Given the description of an element on the screen output the (x, y) to click on. 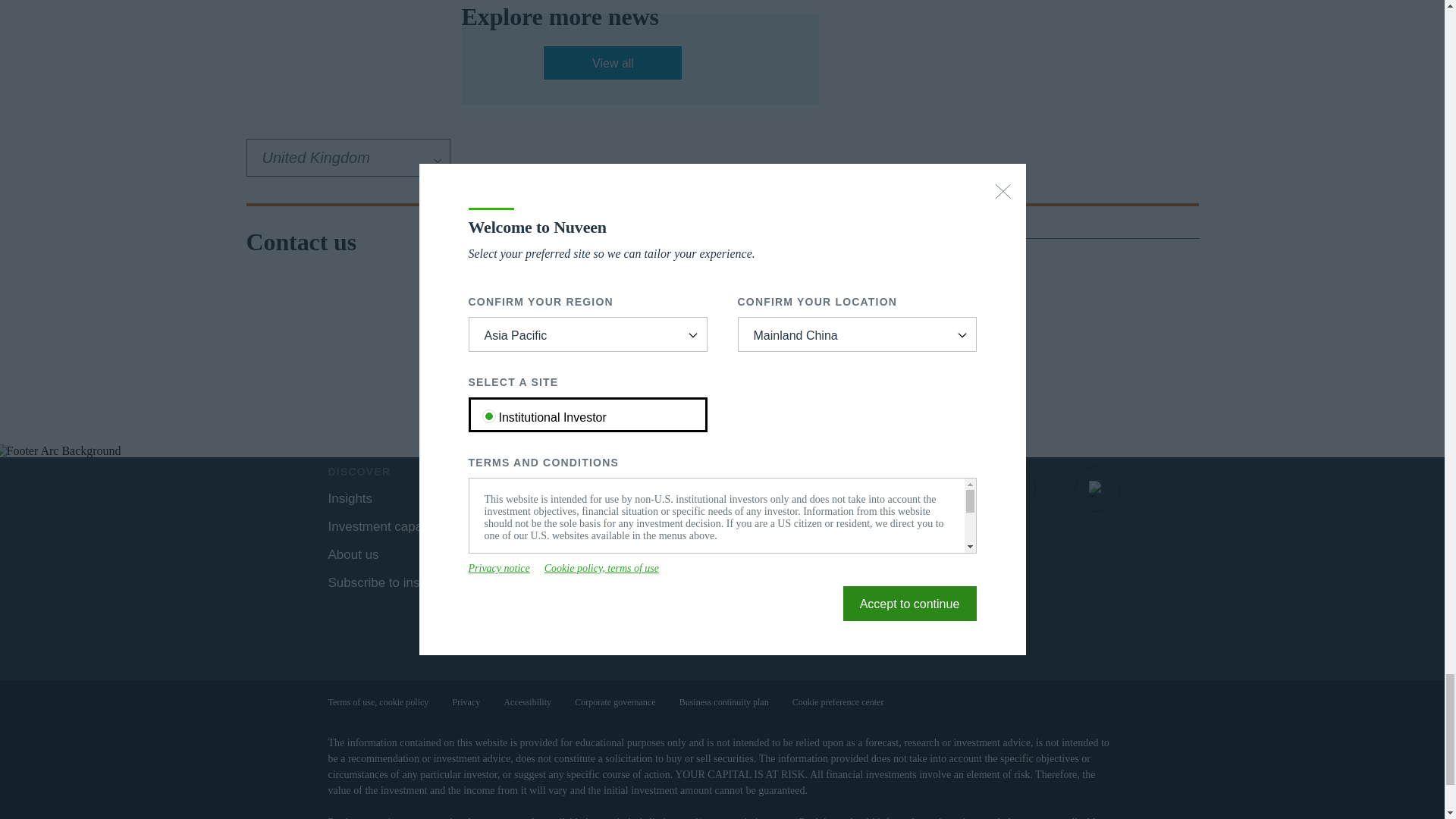
opens in a new window (1013, 488)
opens in a new window (845, 488)
opens in a new window (928, 488)
opens in a new window (612, 62)
opens in a new window (1097, 488)
opens in a new window (508, 554)
